Given the description of an element on the screen output the (x, y) to click on. 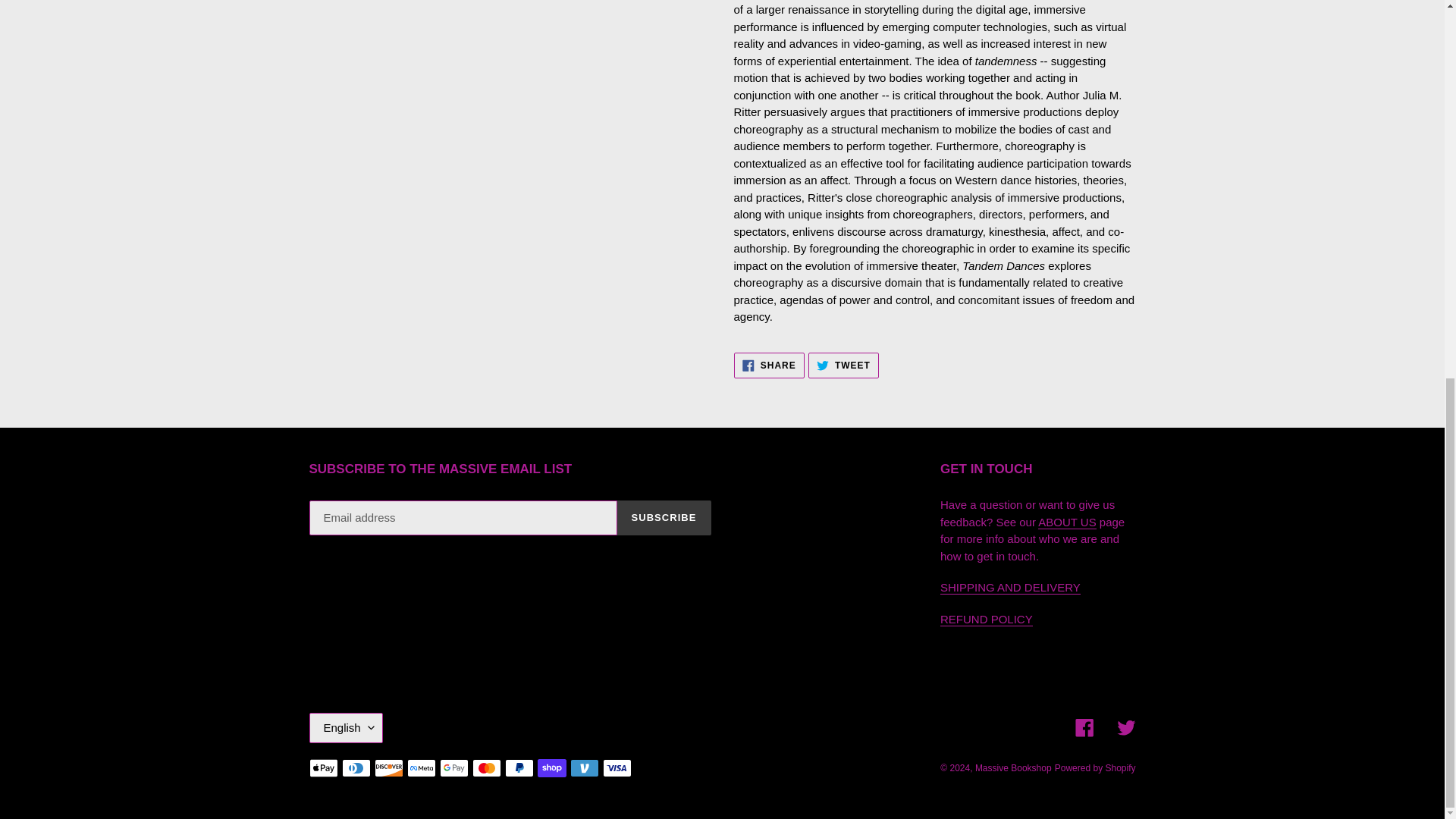
REFUND POLICY (986, 619)
Shipping Policy (1010, 587)
Powered by Shopify (843, 365)
English (1094, 767)
SHIPPING AND DELIVERY (345, 727)
Refund Policy (1010, 587)
WELCOME TO OUR MASSIVE BOOKSHOP (986, 619)
Twitter (1067, 522)
ABOUT US (1125, 727)
Facebook (769, 365)
Massive Bookshop (1067, 522)
SUBSCRIBE (1084, 727)
